Given the description of an element on the screen output the (x, y) to click on. 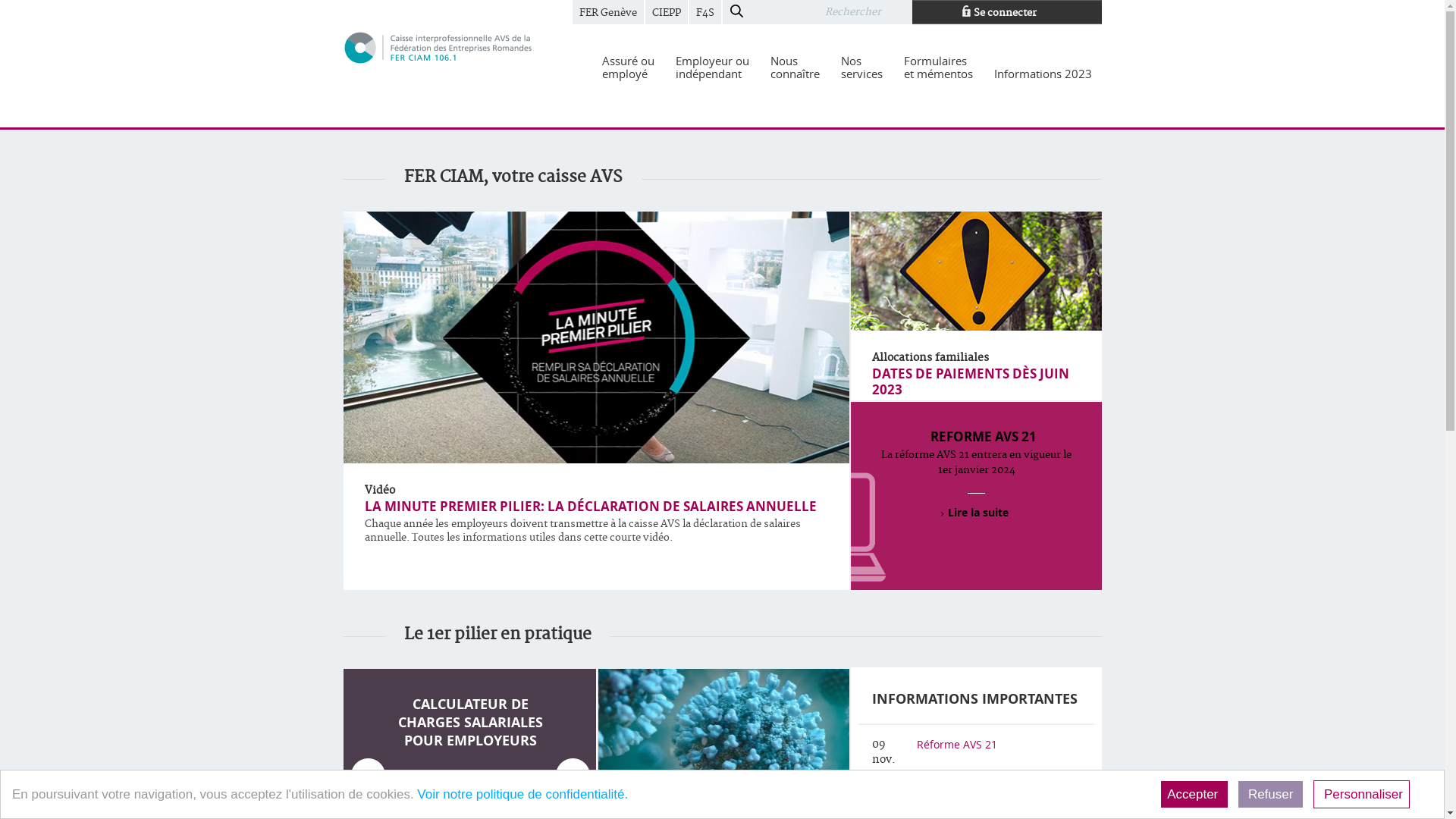
Accepter Element type: text (1194, 794)
Personnaliser Element type: text (1361, 794)
 CIAM AVS Element type: hover (437, 46)
Suivants Element type: hover (572, 775)
Refuser Element type: text (1270, 794)
INFORMATIONS IMPORTANTES Element type: text (974, 698)
Lire la suite Element type: text (976, 512)
REFORME AVS 21 Element type: text (982, 436)
Se connecter Element type: text (1006, 12)
CALCULATEUR DE CHARGES SALARIALES POUR EMPLOYEURS Element type: text (469, 721)
Rechercher Element type: hover (865, 11)
CIEPP Element type: text (665, 12)
F4S Element type: text (704, 12)
Nos
services Element type: text (861, 67)
Rechercher Element type: text (735, 12)
Informations 2023 Element type: text (1043, 73)
